Given the description of an element on the screen output the (x, y) to click on. 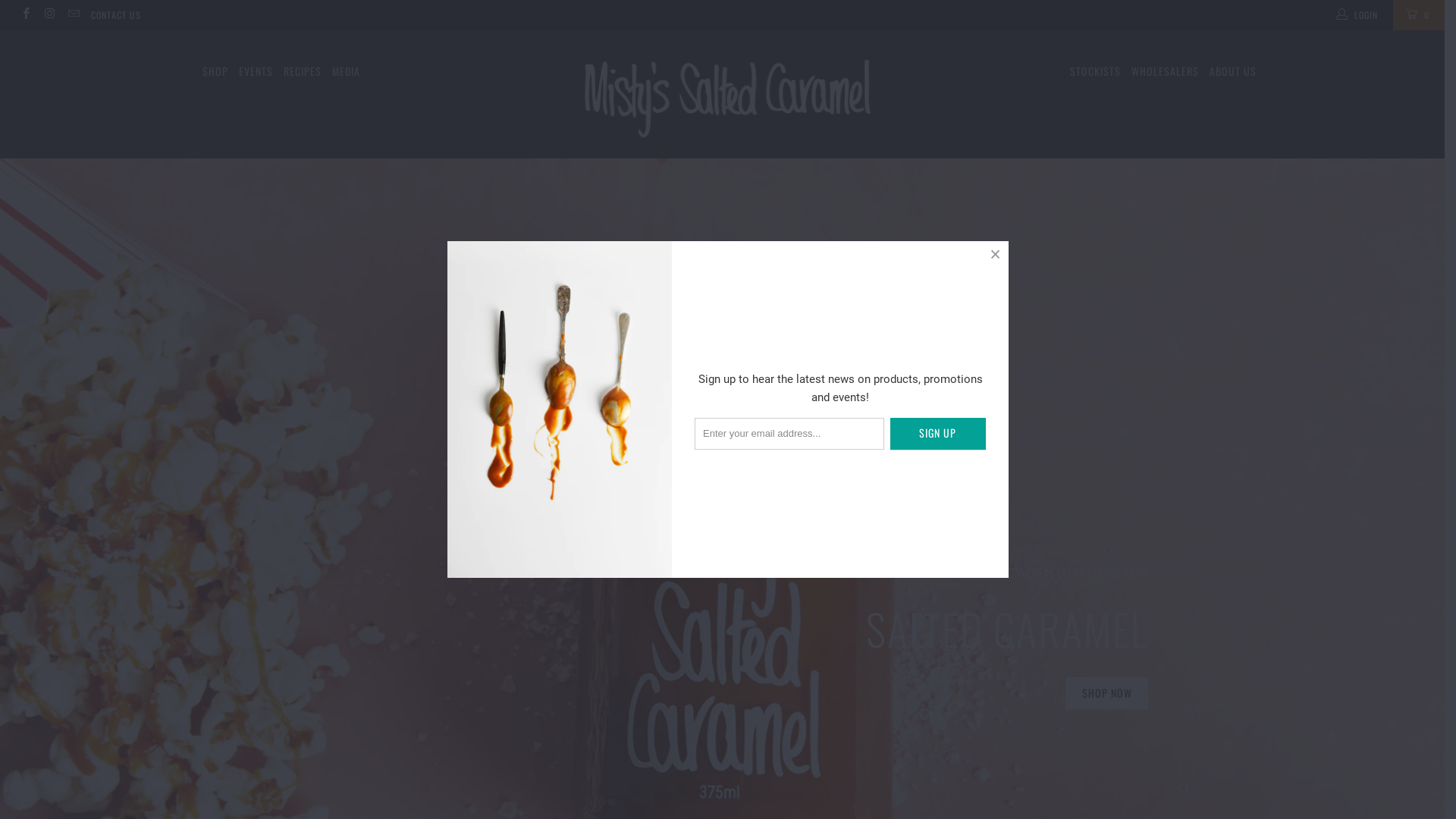
Email Misty's Salted Caramel Element type: hover (72, 14)
LOGIN Element type: text (1357, 15)
Sign Up Element type: text (937, 433)
STOCKISTS Element type: text (1094, 71)
0 Element type: text (1418, 15)
WHOLESALERS Element type: text (1164, 71)
ABOUT US Element type: text (1231, 71)
Misty's Salted Caramel on Facebook Element type: hover (24, 14)
SHOP Element type: text (215, 71)
SHOP NOW Element type: text (1106, 693)
Misty's Salted Caramel Element type: hover (722, 94)
EVENTS Element type: text (255, 71)
RECIPES Element type: text (302, 71)
MEDIA Element type: text (346, 71)
CONTACT US Element type: text (116, 15)
Misty's Salted Caramel on Instagram Element type: hover (48, 14)
